Given the description of an element on the screen output the (x, y) to click on. 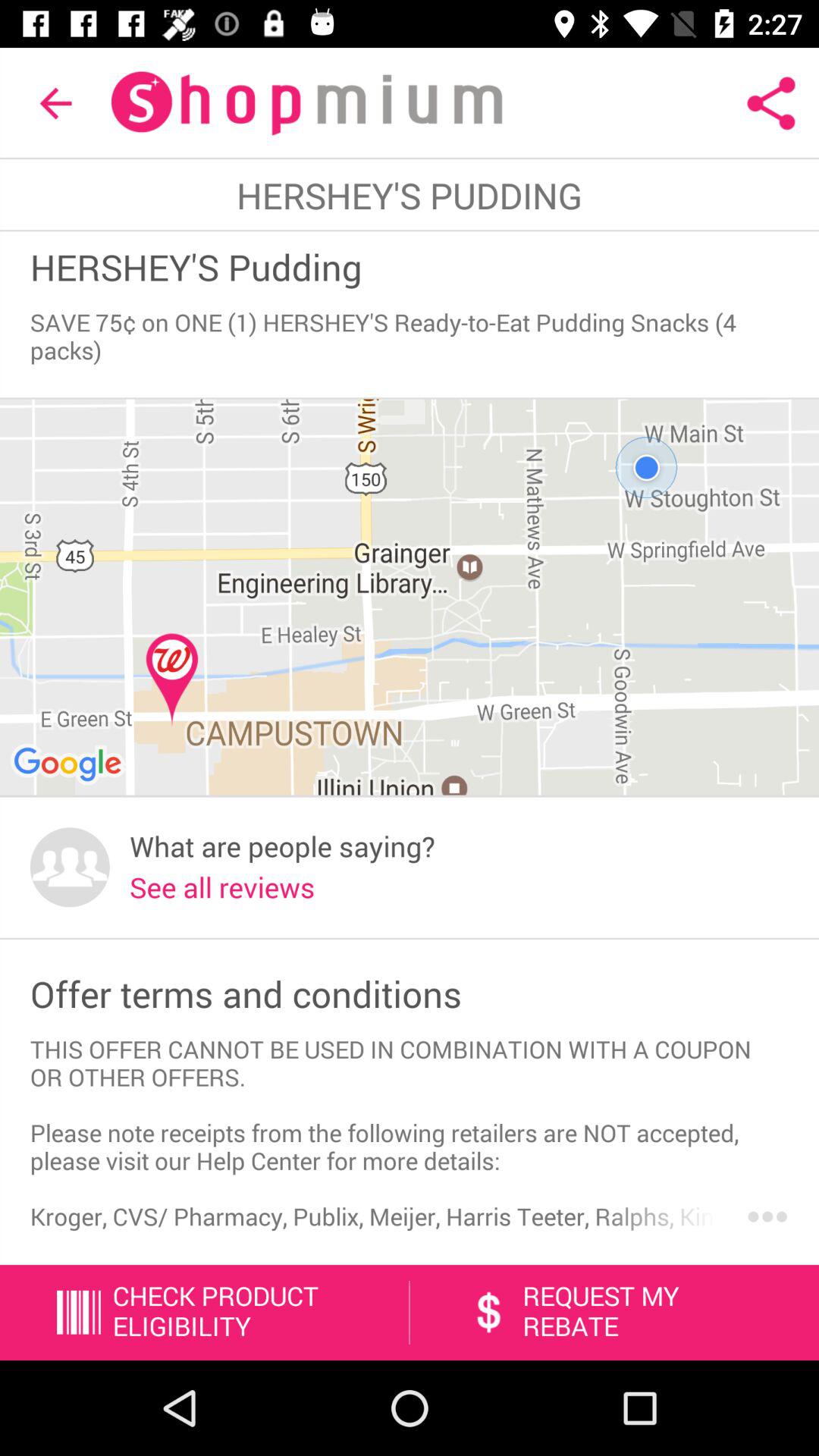
launch item above hershey's pudding item (771, 103)
